Given the description of an element on the screen output the (x, y) to click on. 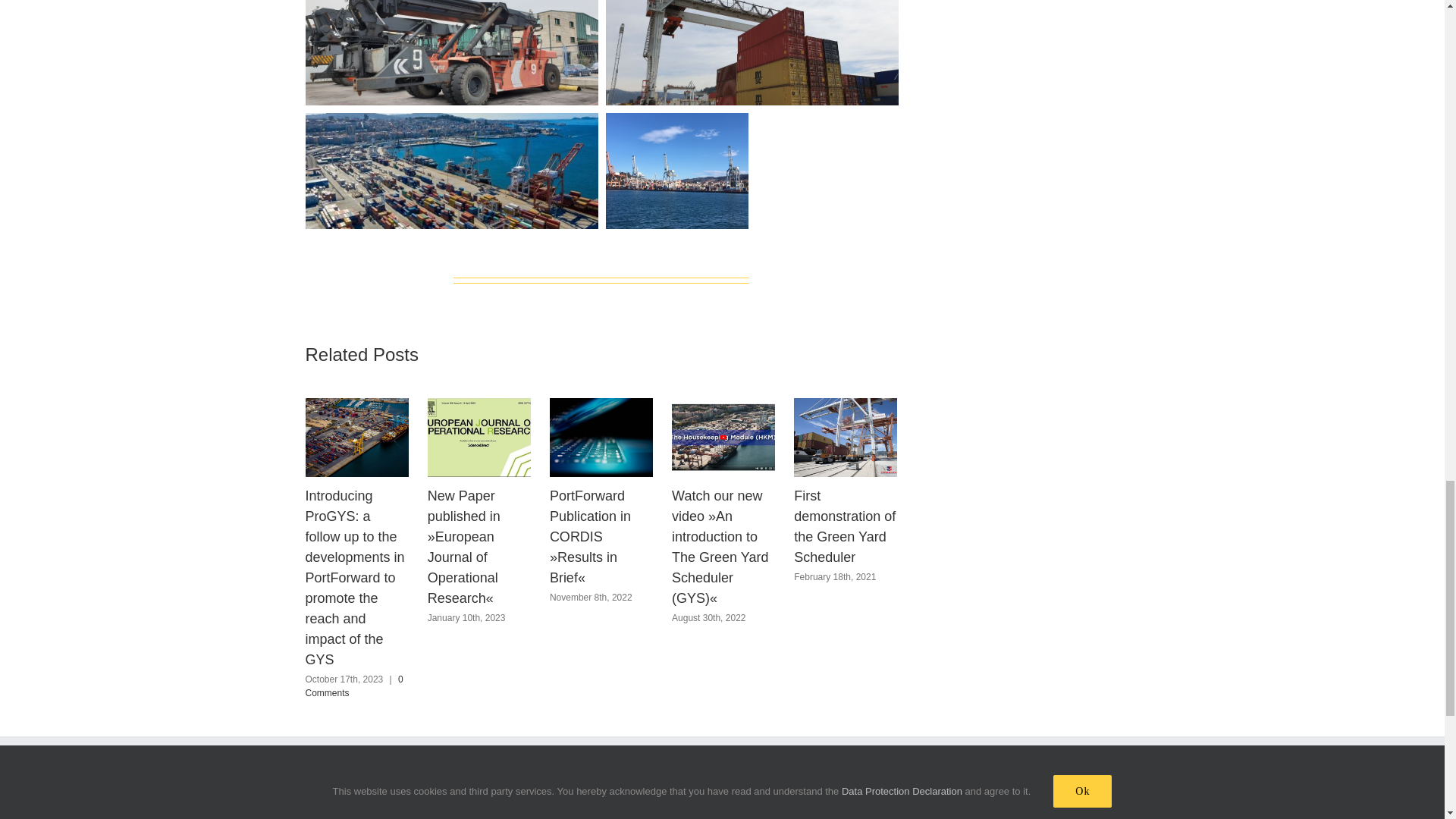
Picture2RubberTyredGantryCrane (751, 52)
Picture3ViewOfTheTerminal (450, 171)
Picture4ViewFromTheSea (676, 171)
Picture1ReachStacker (450, 52)
